Given the description of an element on the screen output the (x, y) to click on. 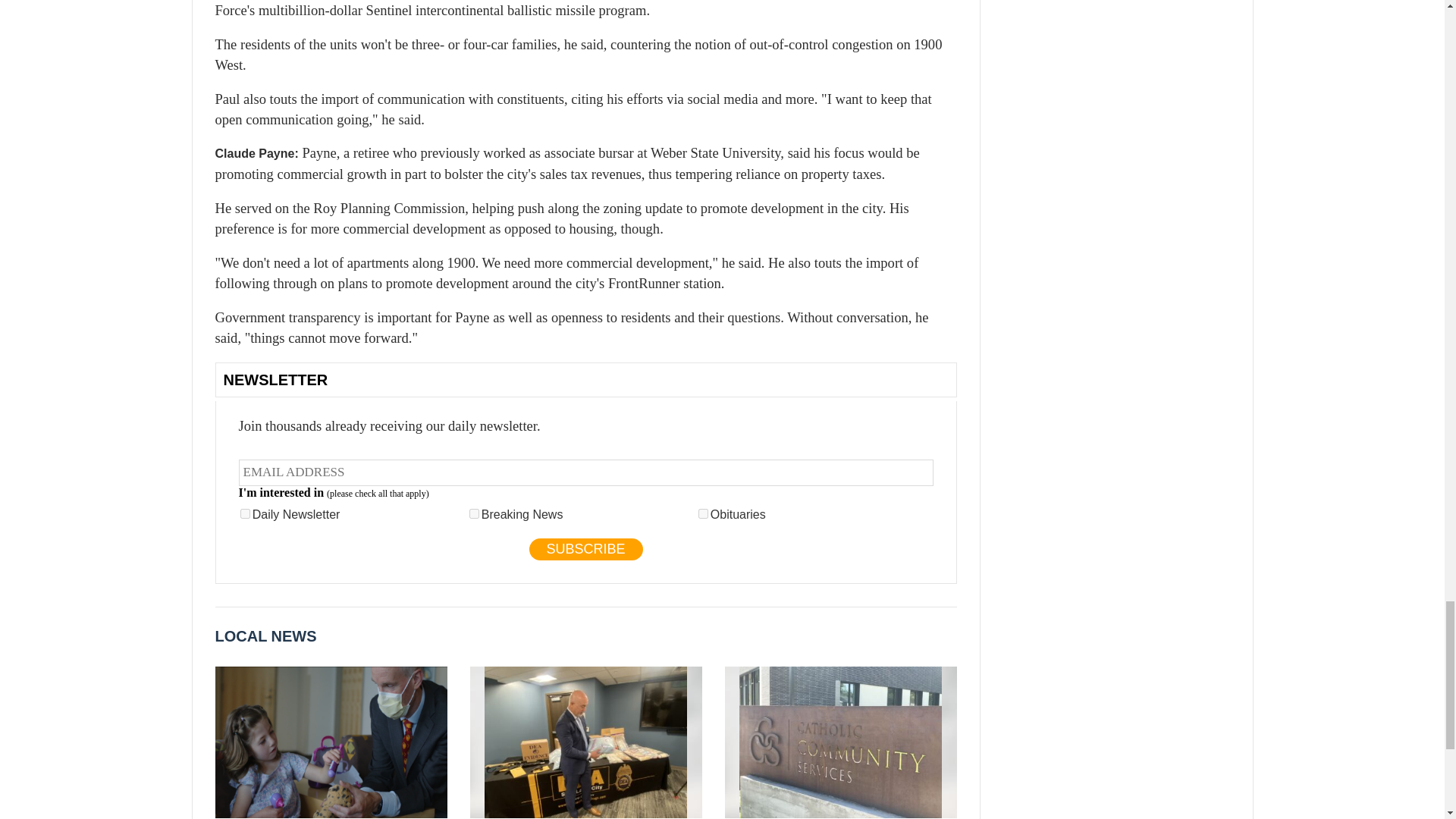
2 (473, 513)
Subscribe (586, 549)
4 (702, 513)
1 (245, 513)
